Given the description of an element on the screen output the (x, y) to click on. 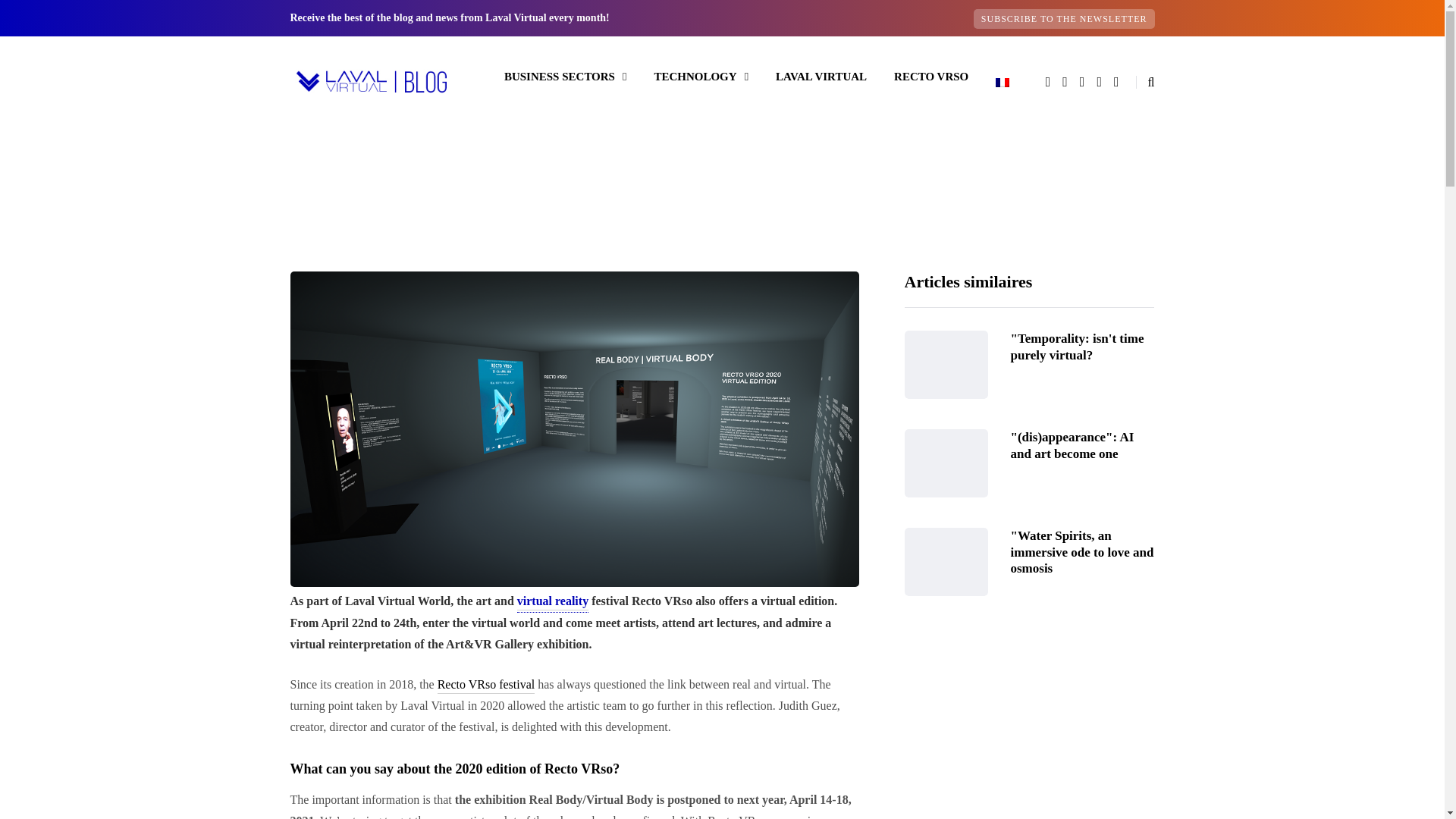
SUBSCRIBE TO THE NEWSLETTER (1064, 18)
LAVAL VIRTUAL (820, 76)
RECTO VRSO (930, 76)
TECHNOLOGY (700, 76)
BUSINESS SECTORS (565, 76)
Search (43, 15)
